Given the description of an element on the screen output the (x, y) to click on. 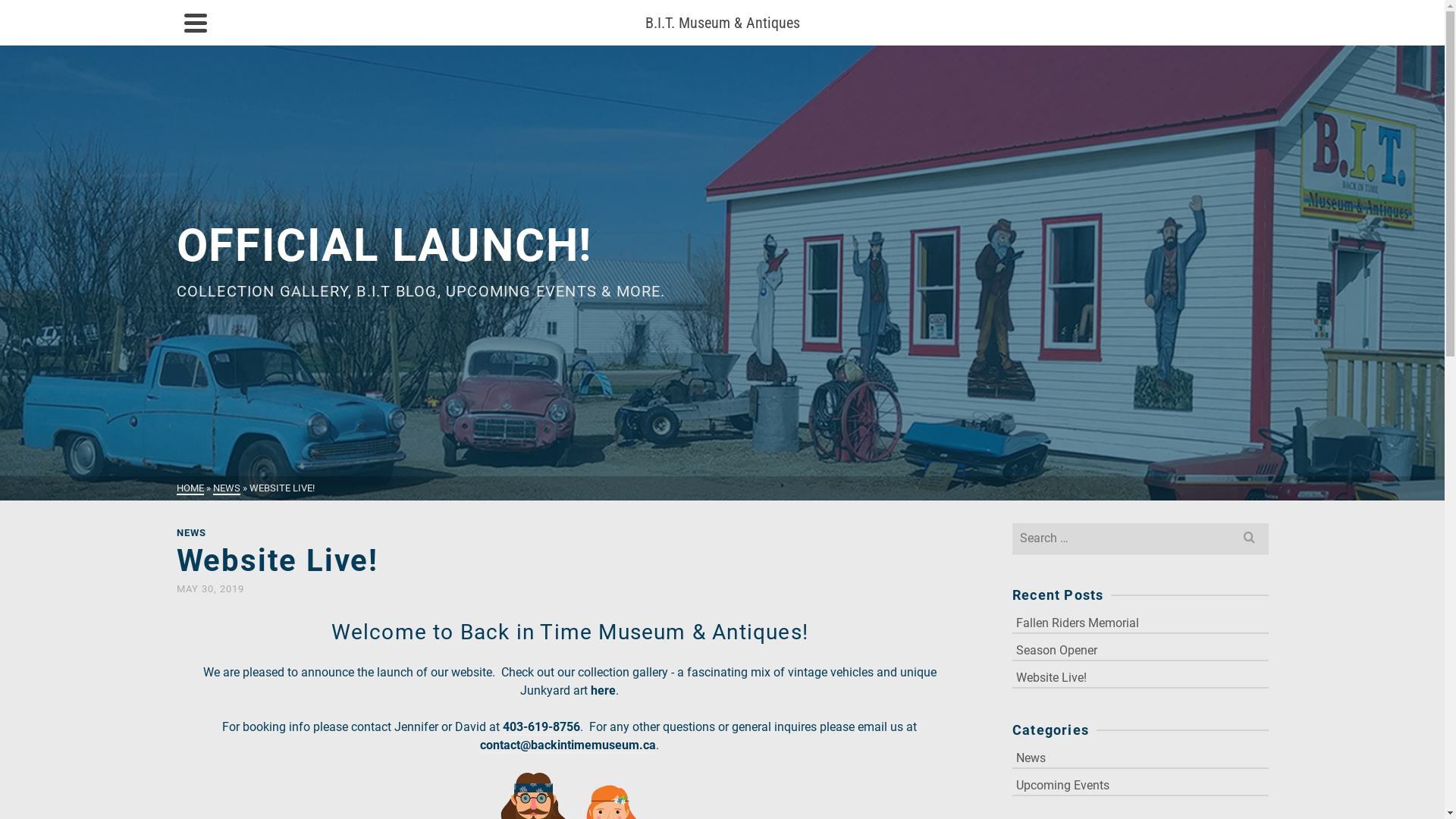
Website Live! Element type: text (1140, 676)
HOME Element type: text (189, 488)
B.I.T. Museum & Antiques Element type: text (722, 22)
contact@backintimemuseum.ca Element type: text (567, 745)
403-619-8756 Element type: text (541, 727)
here Element type: text (602, 691)
Upcoming Events Element type: text (1140, 784)
Season Opener Element type: text (1140, 649)
NEWS Element type: text (190, 532)
NEWS Element type: text (225, 488)
Fallen Riders Memorial Element type: text (1140, 621)
News Element type: text (1140, 756)
